Given the description of an element on the screen output the (x, y) to click on. 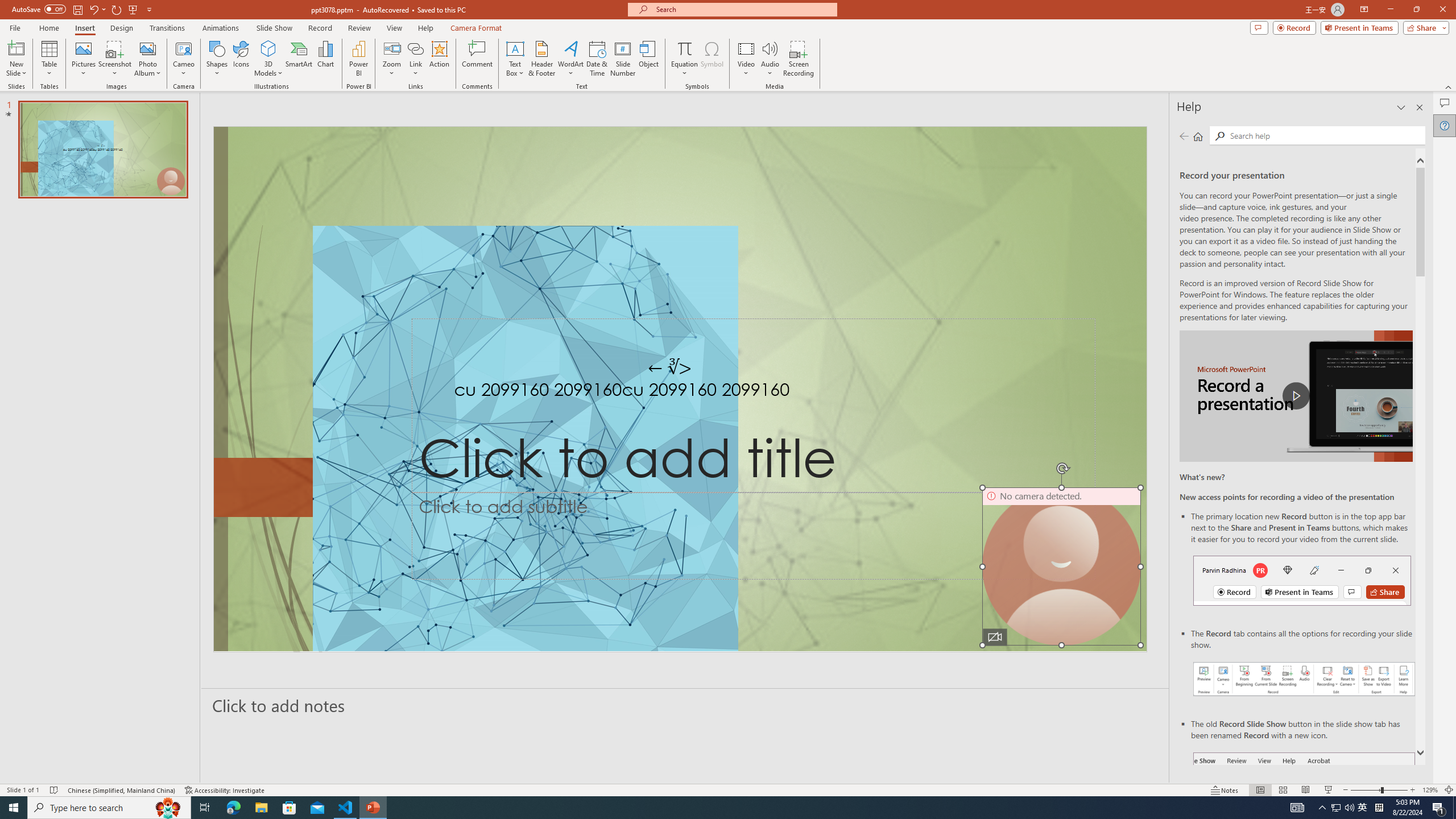
play Record a Presentation (1296, 395)
WordArt (570, 58)
Power BI (358, 58)
